Given the description of an element on the screen output the (x, y) to click on. 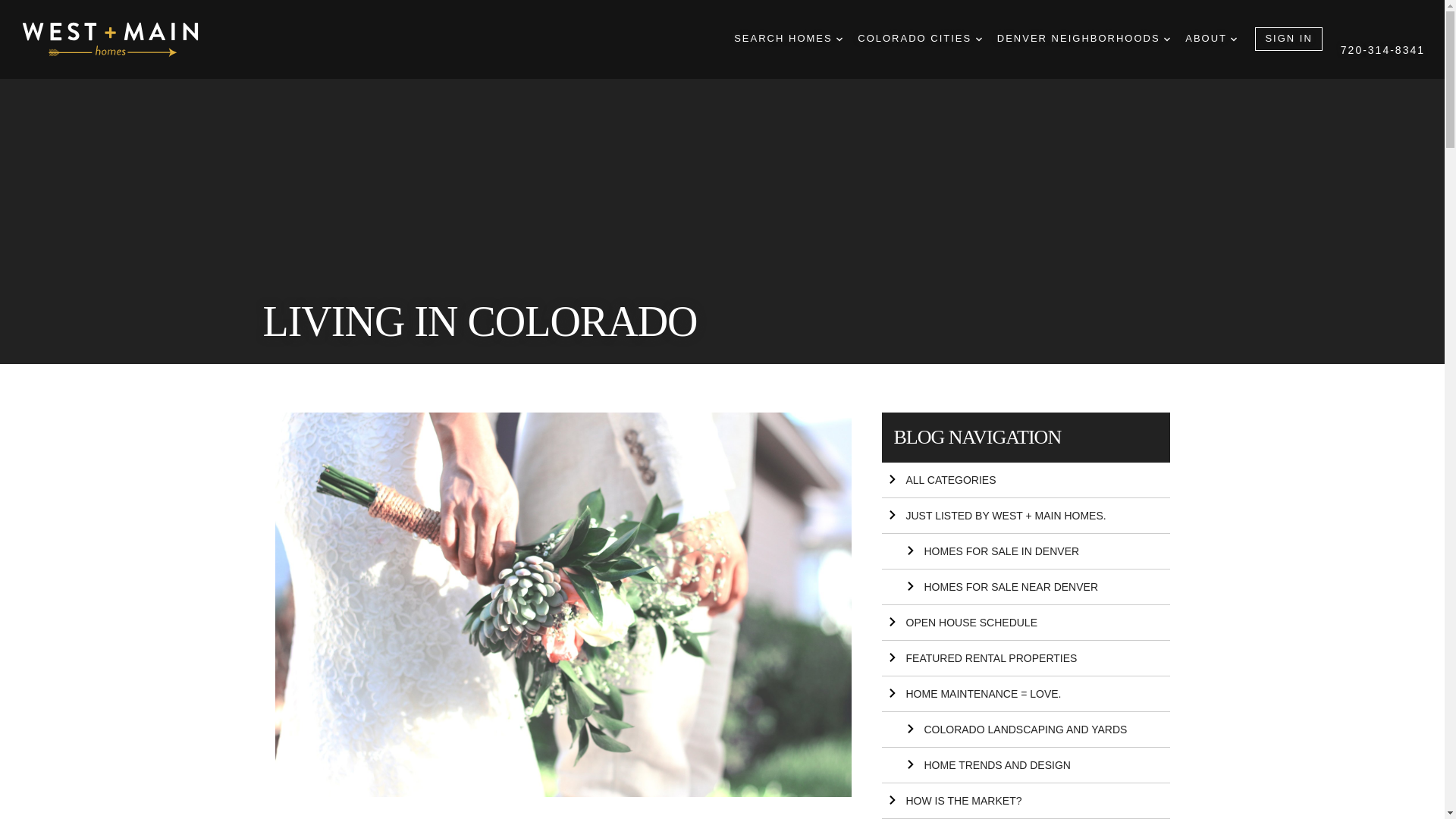
DROPDOWN ARROW (1166, 39)
SEARCH HOMES DROPDOWN ARROW (788, 38)
DROPDOWN ARROW (839, 39)
DROPDOWN ARROW (1233, 39)
DROPDOWN ARROW (978, 39)
COLORADO CITIES DROPDOWN ARROW (919, 38)
